Given the description of an element on the screen output the (x, y) to click on. 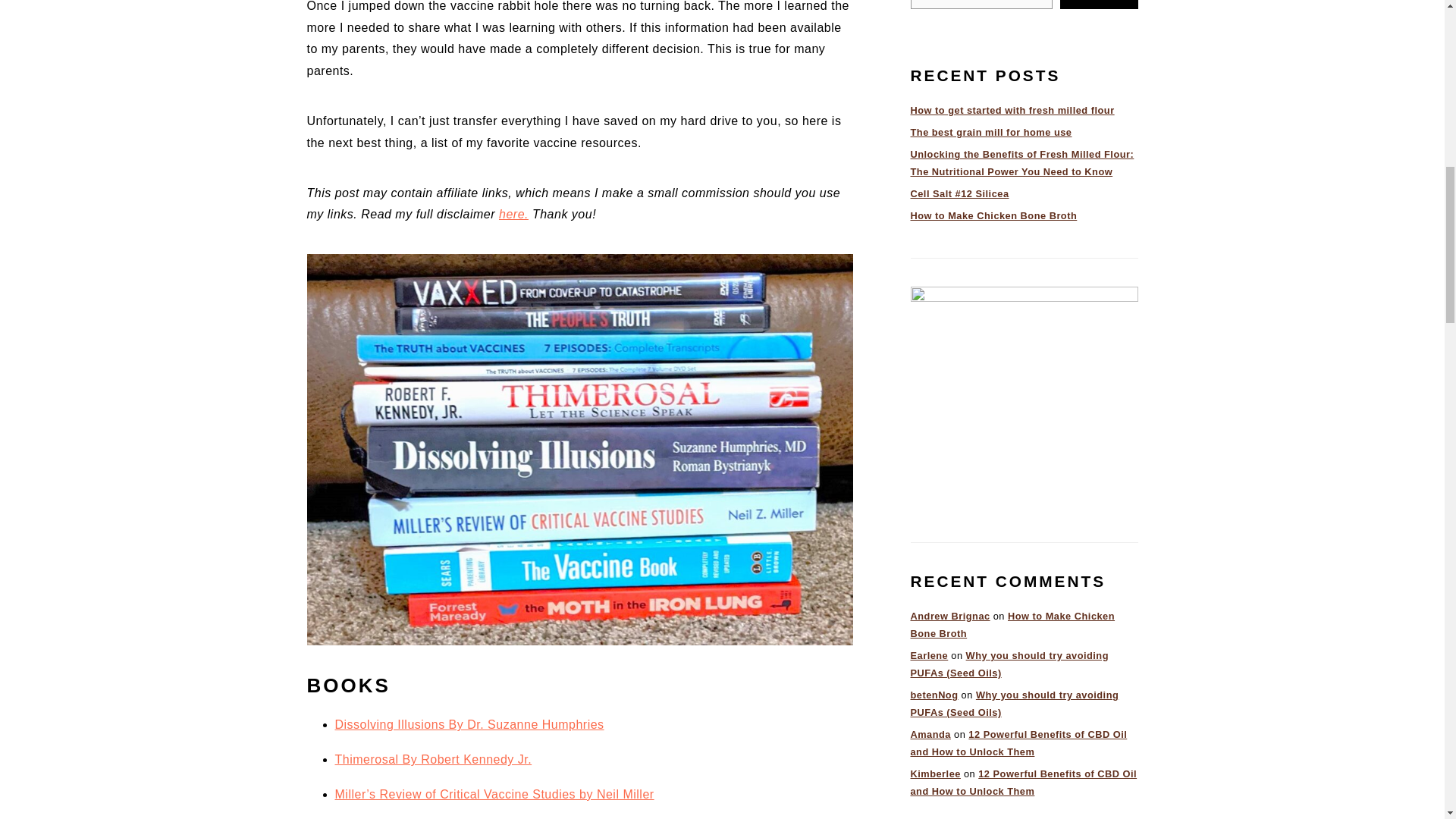
Dissolving Illusions By Dr. Suzanne Humphries (469, 724)
here. (513, 214)
Thimerosal By Robert Kennedy Jr. (433, 758)
